Given the description of an element on the screen output the (x, y) to click on. 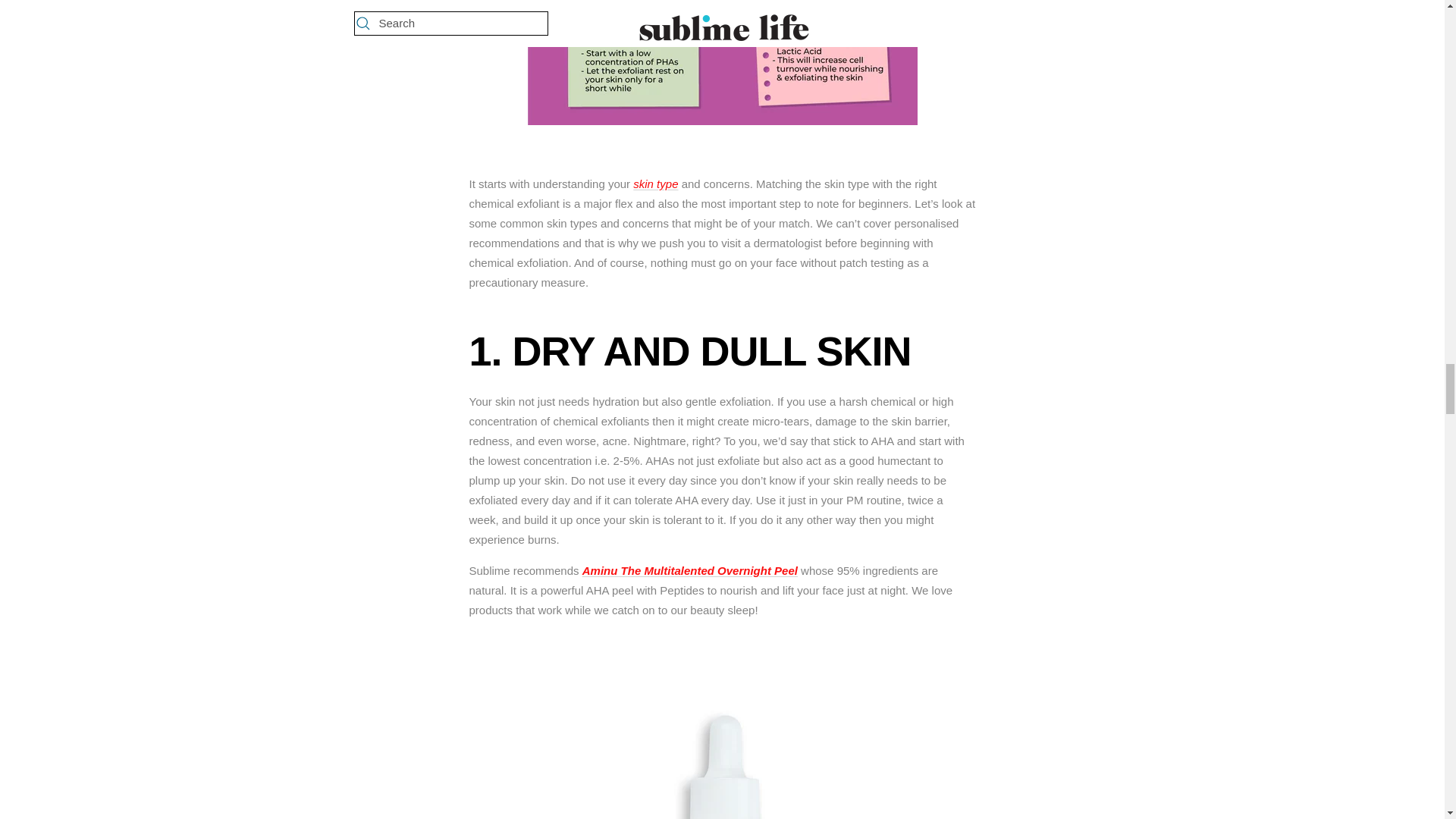
A blog on How to decode your skin type on www.sublimelife.in (655, 183)
Aminu The Multitalented Overnight Peel (689, 570)
Aminu The Multitalented Overnight Peel on www.sublimelife.in (689, 570)
skin type (655, 183)
Aminu The Multitalented Overnight Peel on www.sublimelife.in (722, 640)
